Given the description of an element on the screen output the (x, y) to click on. 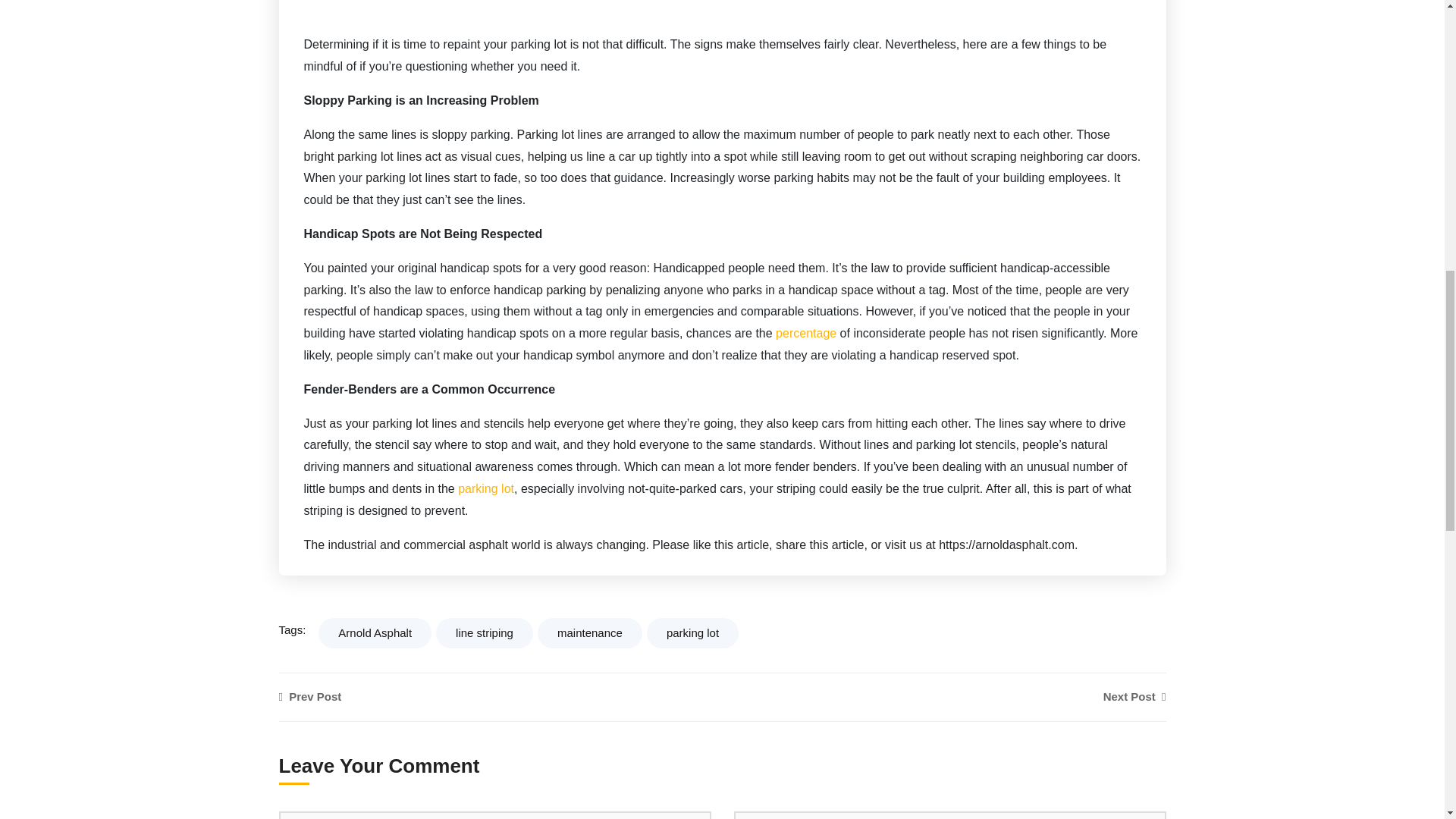
maintenance (589, 633)
Arnold Asphalt (374, 633)
parking lot (485, 488)
line striping (483, 633)
percentage (805, 332)
parking lot (692, 633)
Prev Post (683, 696)
Next Post (1134, 696)
